Given the description of an element on the screen output the (x, y) to click on. 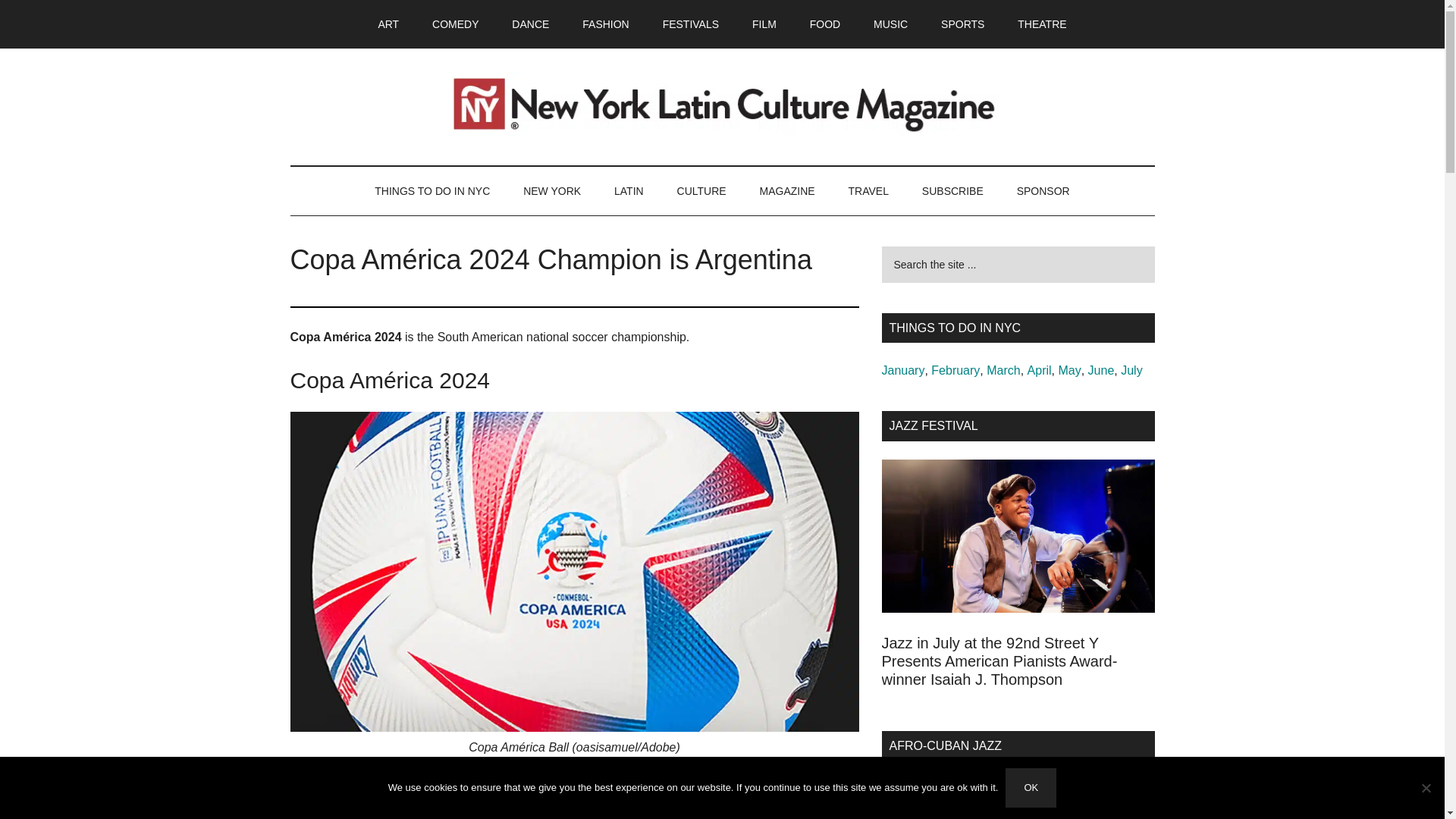
FASHION (605, 24)
LATIN (628, 191)
Latin New York City (551, 191)
Latin Culture (701, 191)
Latin Sports in New York City (962, 24)
Latin Music in New York City (891, 24)
MUSIC (891, 24)
CULTURE (701, 191)
Latin Art in New York City (387, 24)
SPONSOR (1042, 191)
Latin Festivals in New York City (690, 24)
FOOD (825, 24)
FESTIVALS (690, 24)
